Given the description of an element on the screen output the (x, y) to click on. 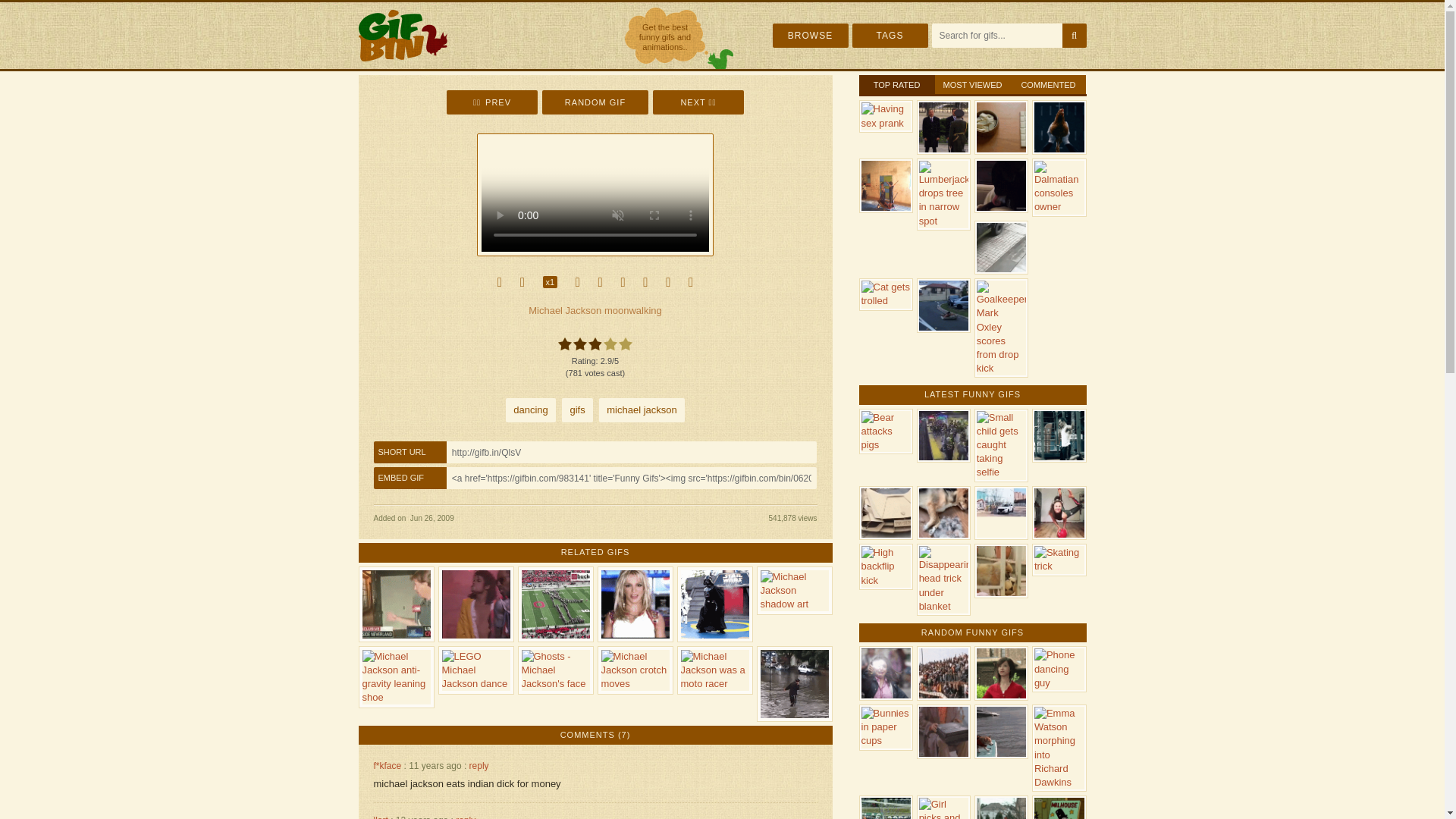
PREV (491, 102)
Show original speed (550, 282)
RANDOM GIF (594, 102)
View random gif (594, 102)
gifs (577, 410)
x1 (550, 282)
Lasers! (491, 102)
Browse gifs (809, 35)
NEXT (698, 102)
TAGS (889, 35)
